Given the description of an element on the screen output the (x, y) to click on. 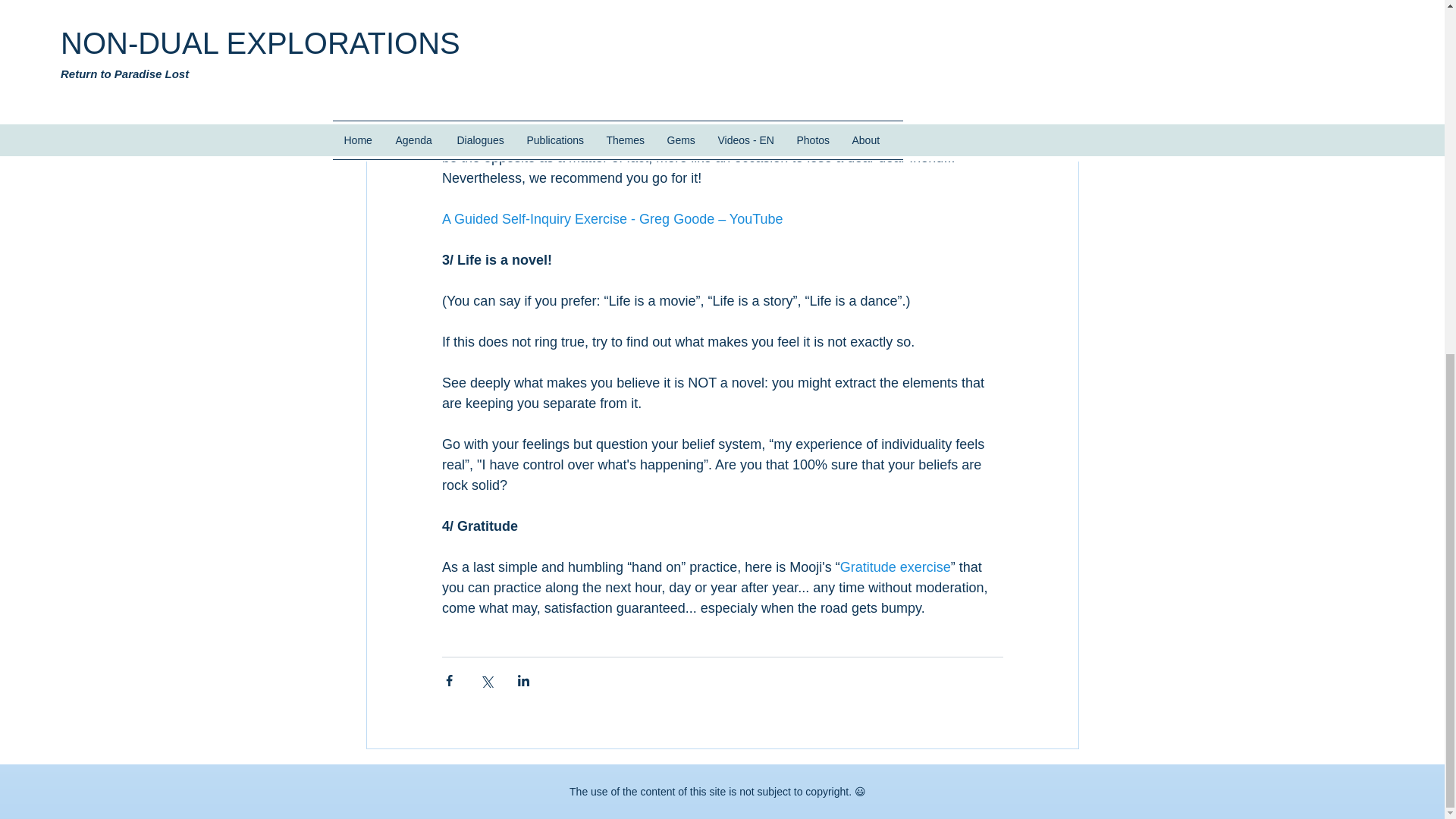
Gratitude exercise (895, 566)
